Given the description of an element on the screen output the (x, y) to click on. 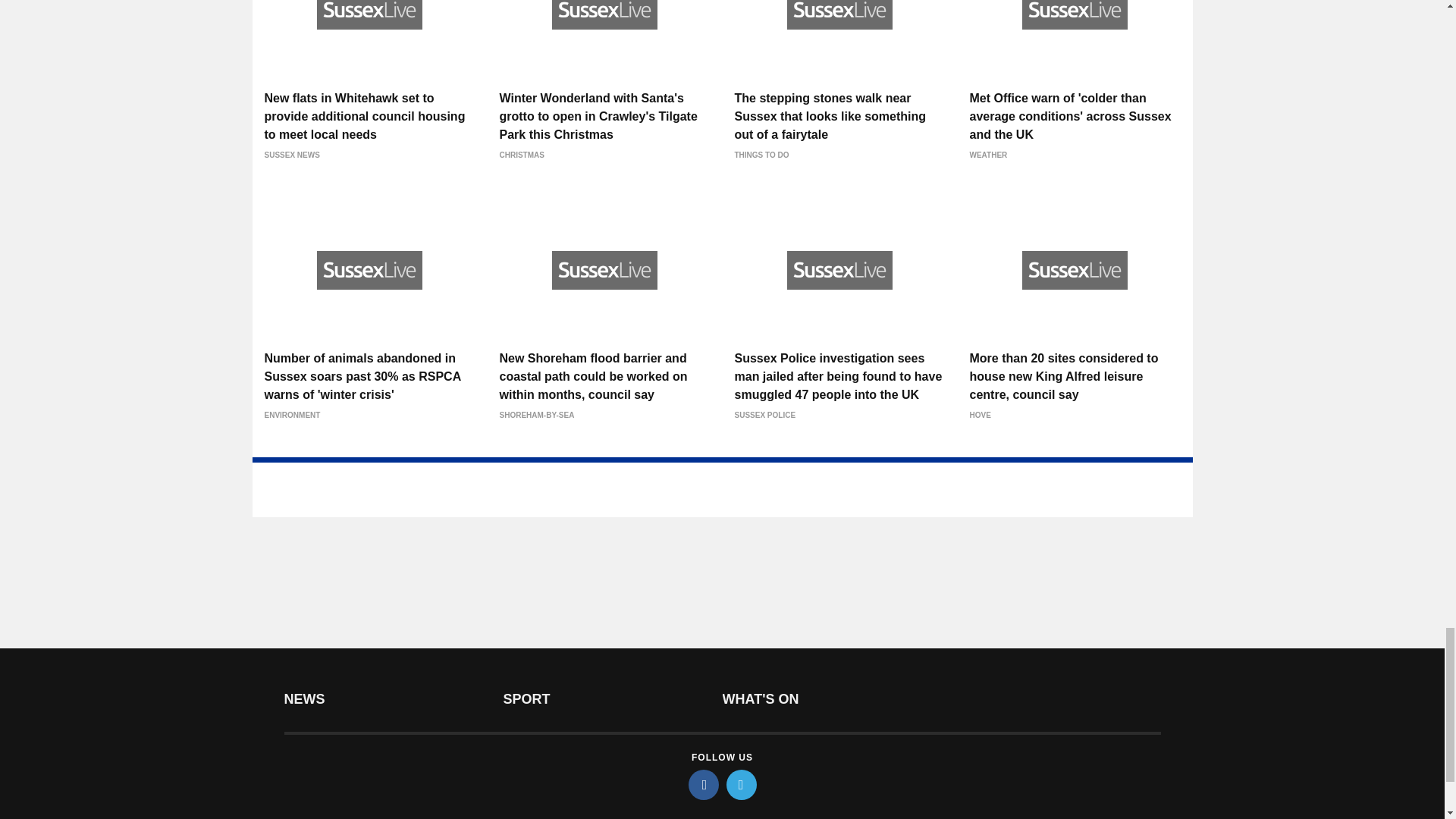
facebook (703, 784)
twitter (741, 784)
